Given the description of an element on the screen output the (x, y) to click on. 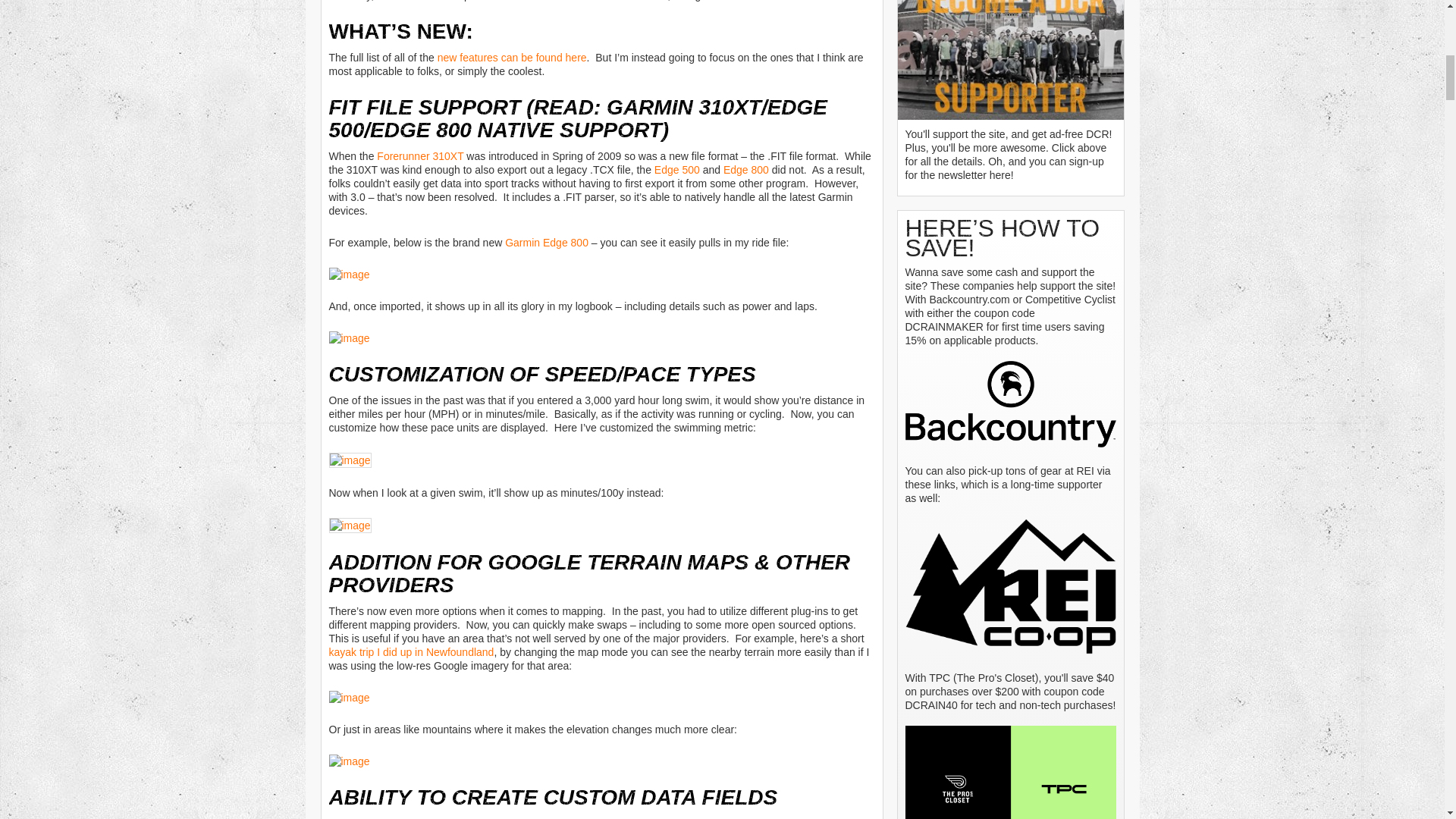
image (349, 697)
image (349, 337)
image (350, 459)
image (350, 525)
image (349, 761)
image (349, 274)
